Given the description of an element on the screen output the (x, y) to click on. 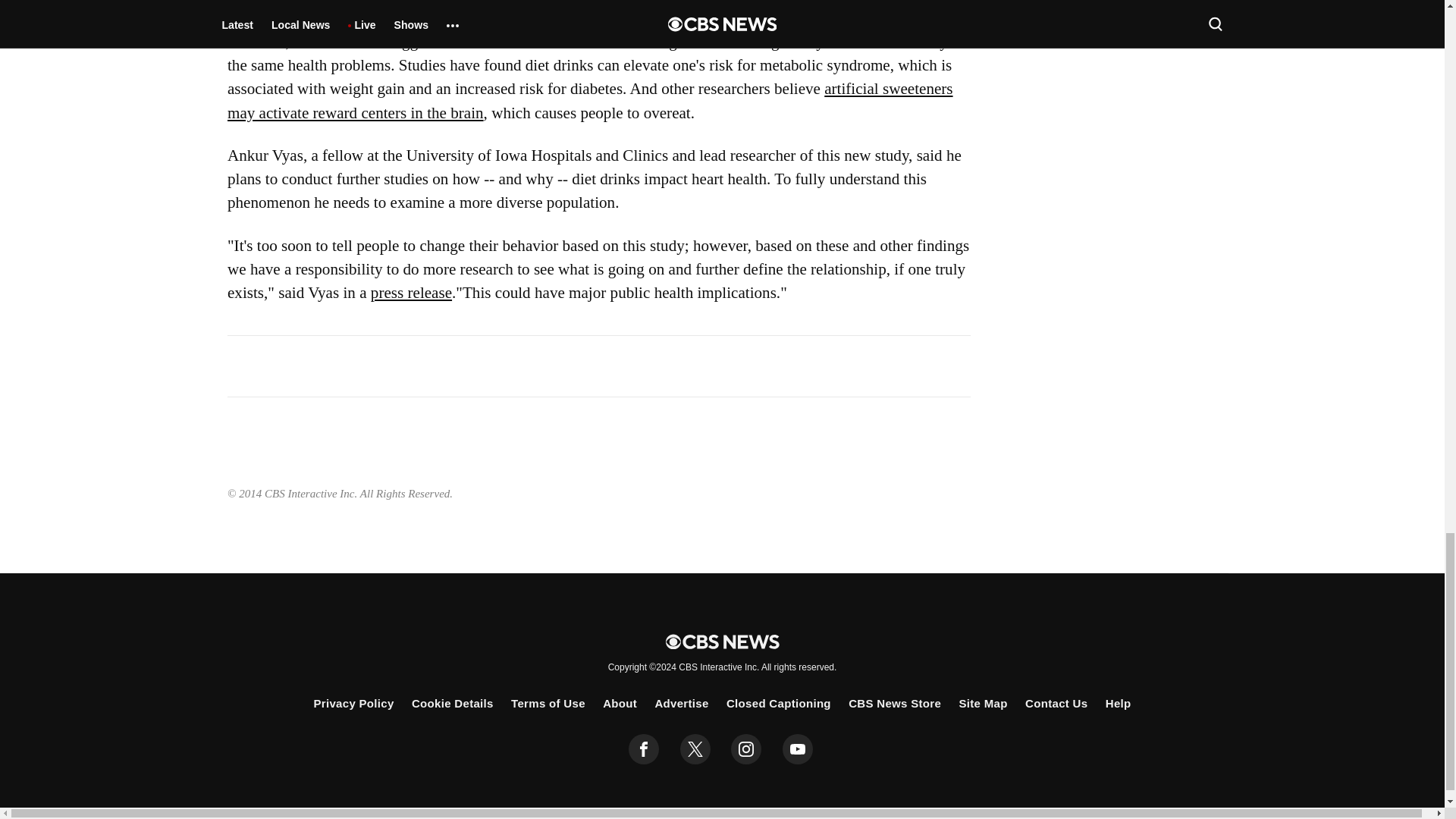
instagram (745, 748)
youtube (797, 748)
twitter (694, 748)
facebook (643, 748)
